Given the description of an element on the screen output the (x, y) to click on. 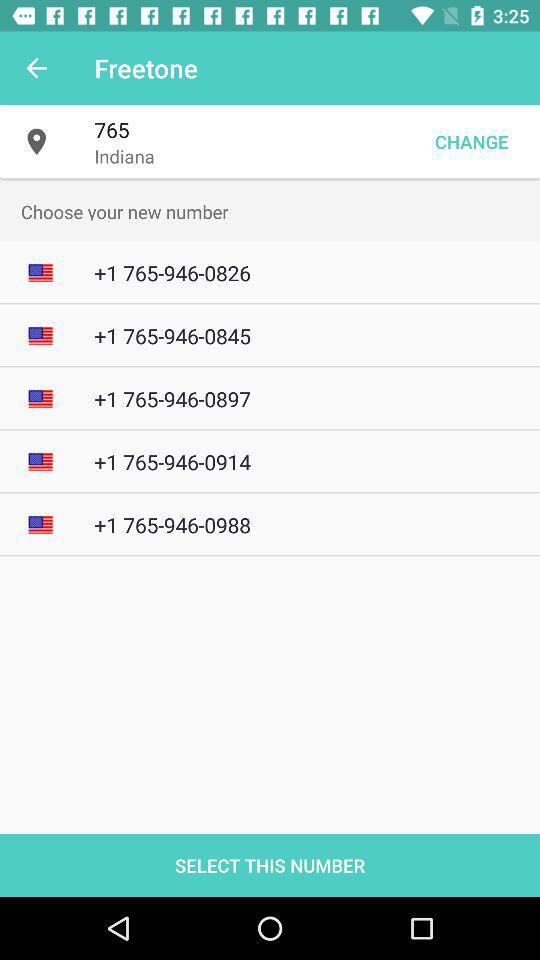
launch icon next to indiana icon (471, 141)
